Given the description of an element on the screen output the (x, y) to click on. 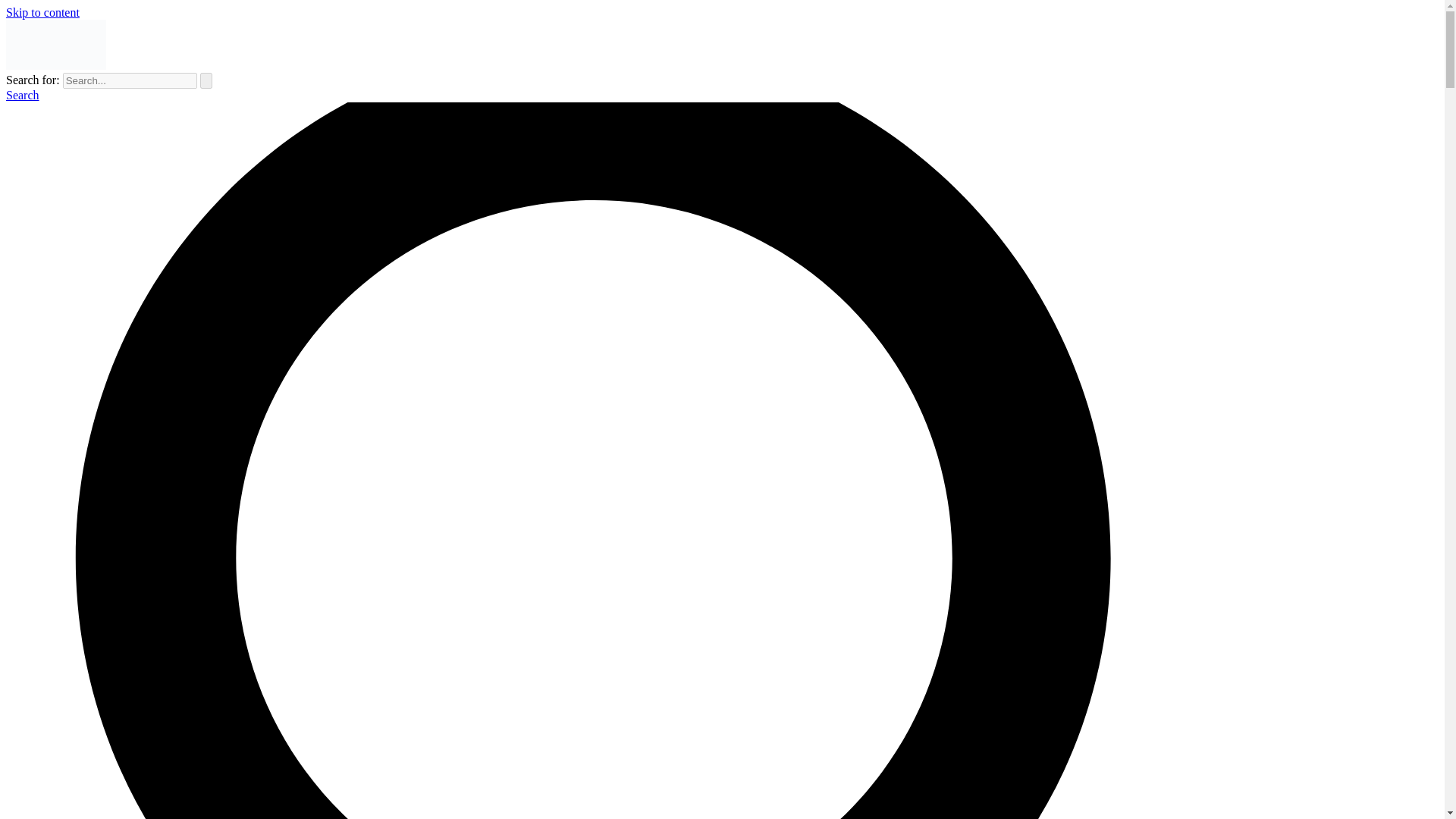
Skip to content (42, 11)
Skip to content (42, 11)
